Given the description of an element on the screen output the (x, y) to click on. 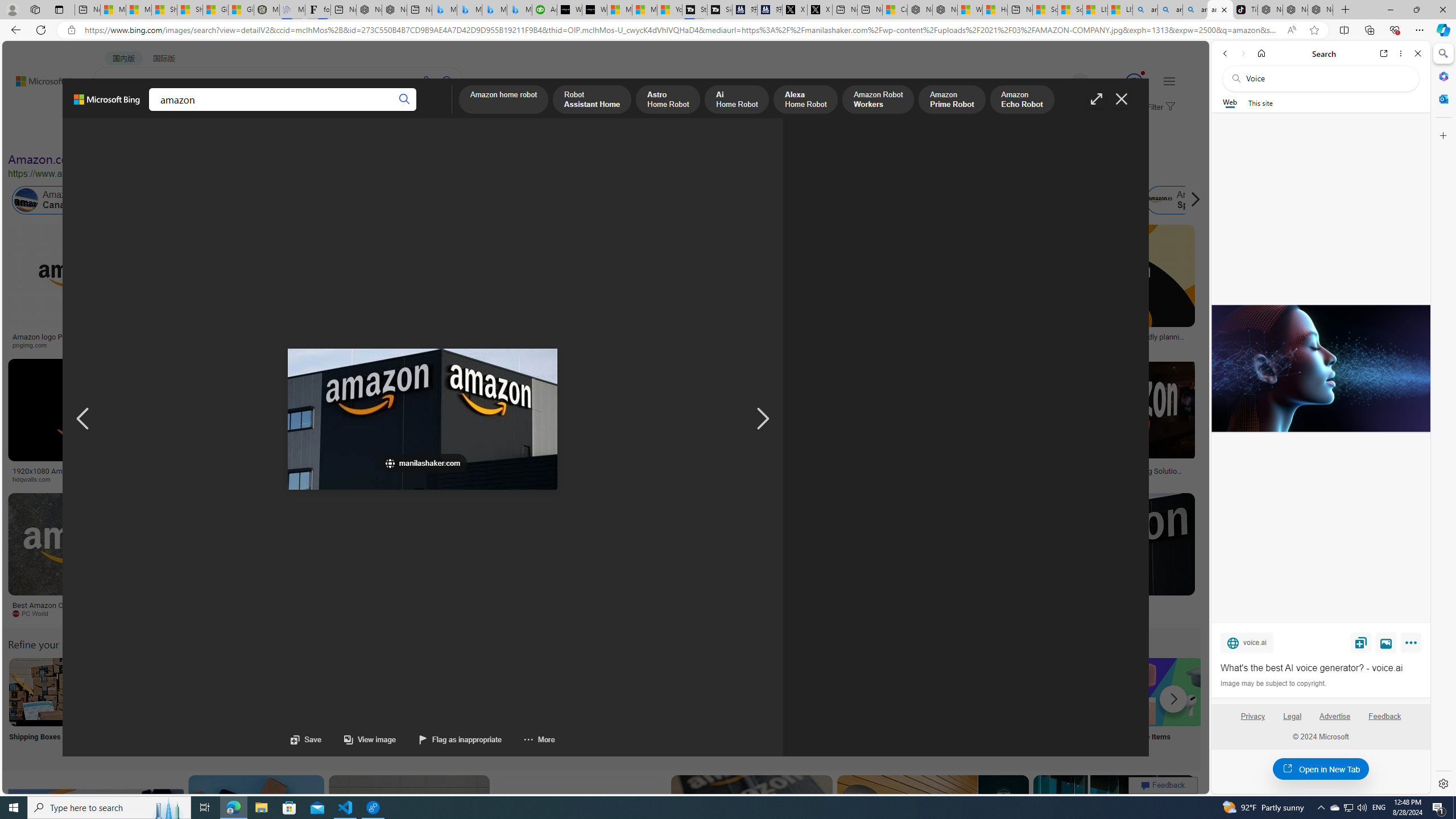
View image (358, 739)
Search button (404, 99)
Open in New Tab (1321, 768)
Echo Dot 4th Gen (673, 264)
Amazon Retail Store (493, 691)
Amazon.com.au (881, 200)
manilashaker.com (722, 613)
Legal (1291, 715)
Listen: What's next for Amazon? (363, 336)
